Given the description of an element on the screen output the (x, y) to click on. 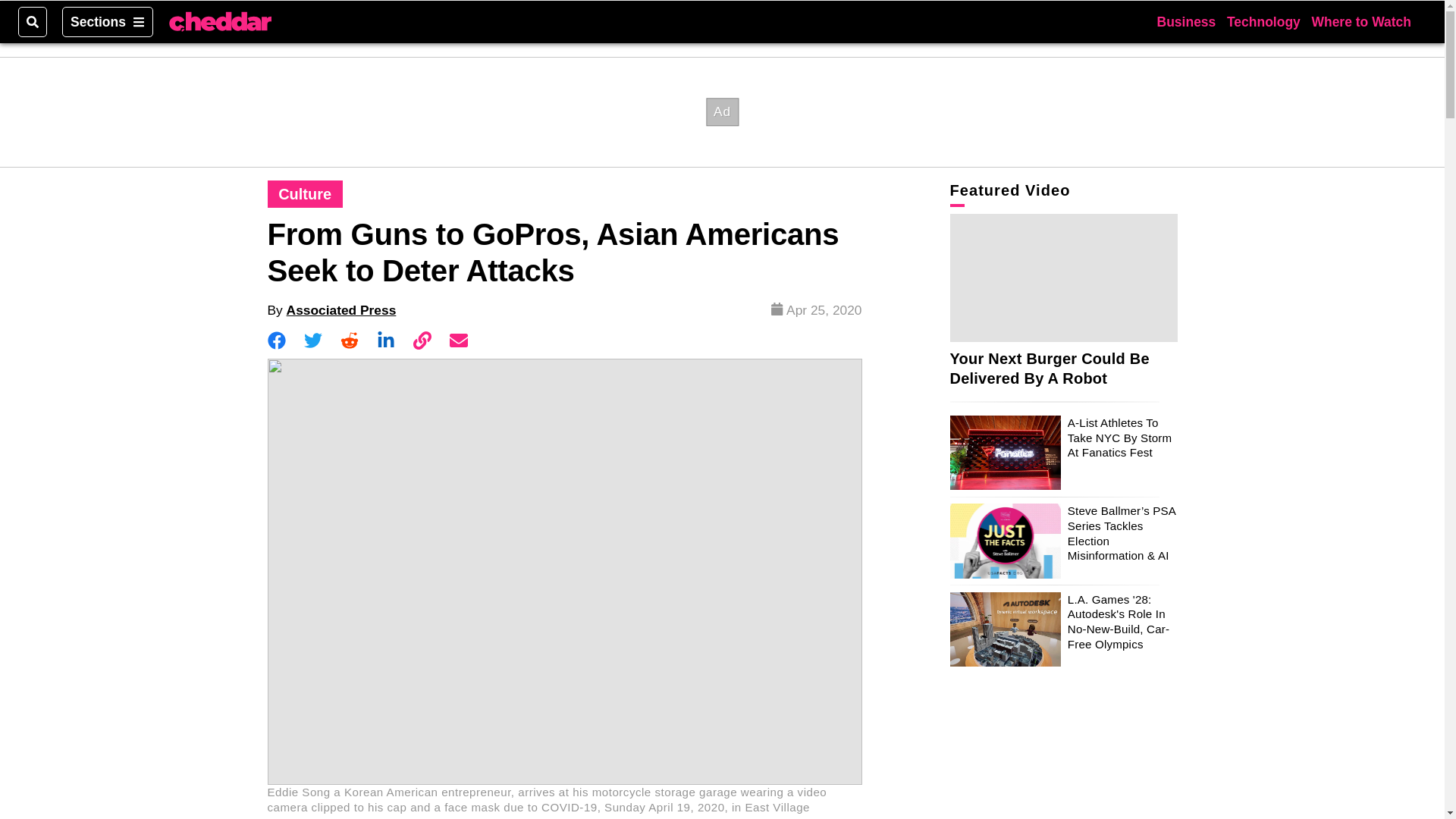
Business (1186, 21)
Your Next Burger Could Be Delivered By A Robot (1048, 368)
Where to Watch (1360, 21)
Associated Press (341, 309)
3rd party ad content (721, 111)
Culture (304, 193)
Cheddar Logo (220, 21)
Technology (1263, 21)
Sections (107, 21)
